Given the description of an element on the screen output the (x, y) to click on. 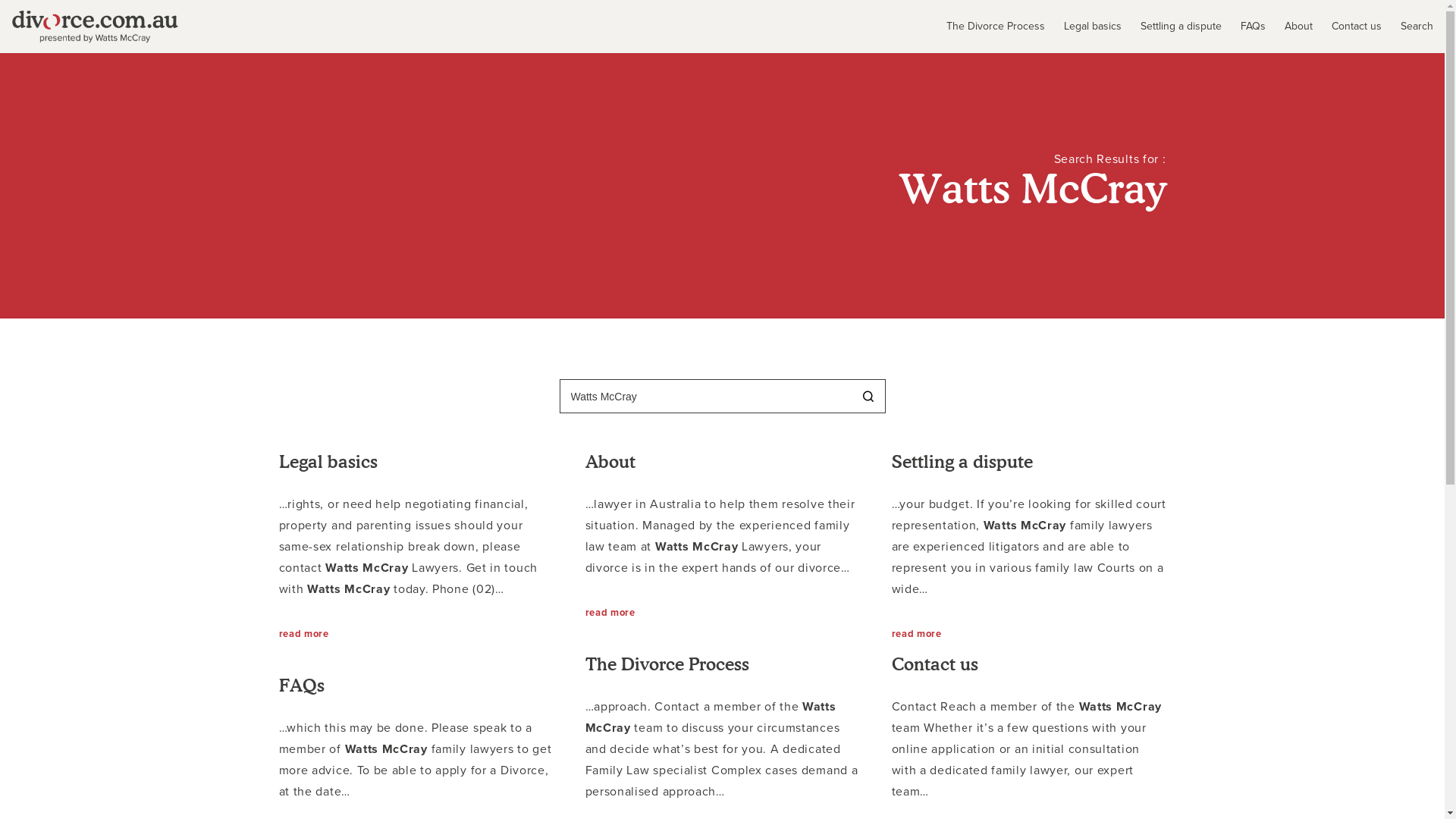
About Element type: text (610, 461)
read more Element type: text (304, 633)
read more Element type: text (916, 633)
Settling a dispute Element type: text (961, 461)
Legal basics Element type: text (328, 461)
FAQs Element type: text (301, 685)
Settling a dispute Element type: text (1171, 26)
About Element type: text (1288, 26)
The Divorce Process Element type: text (985, 26)
Contact us Element type: text (934, 663)
FAQs Element type: text (1243, 26)
Search Element type: text (1407, 26)
Contact us Element type: text (1346, 26)
The Divorce Process Element type: text (667, 663)
read more Element type: text (610, 612)
Legal basics Element type: text (1082, 26)
